Given the description of an element on the screen output the (x, y) to click on. 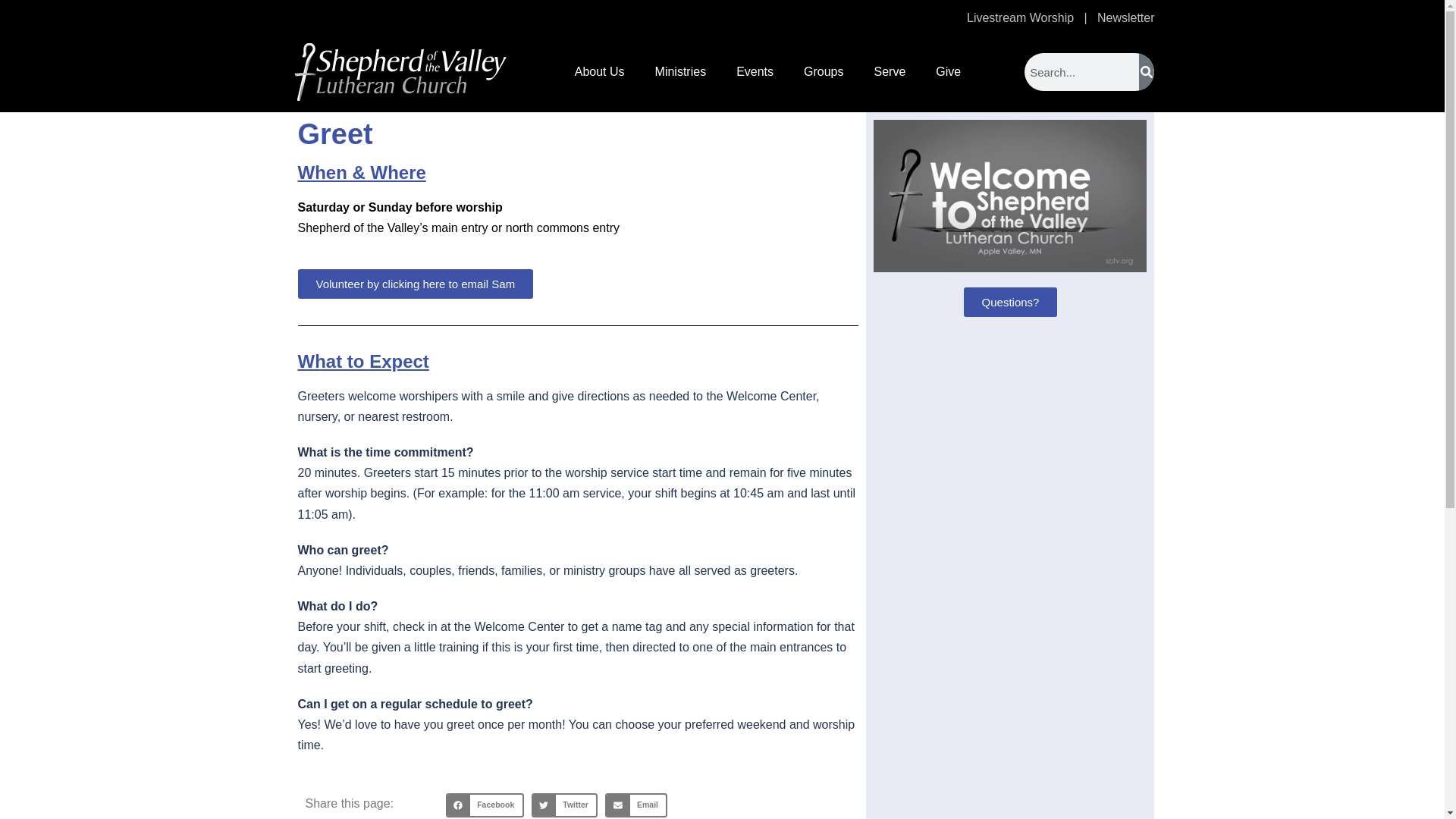
Give (947, 71)
Livestream Worship (1020, 17)
Serve (890, 71)
Volunteer by clicking here to email Sam (414, 283)
Newsletter (1125, 17)
Events (754, 71)
Ministries (681, 71)
Groups (824, 71)
Questions? (1010, 301)
About Us (599, 71)
